Given the description of an element on the screen output the (x, y) to click on. 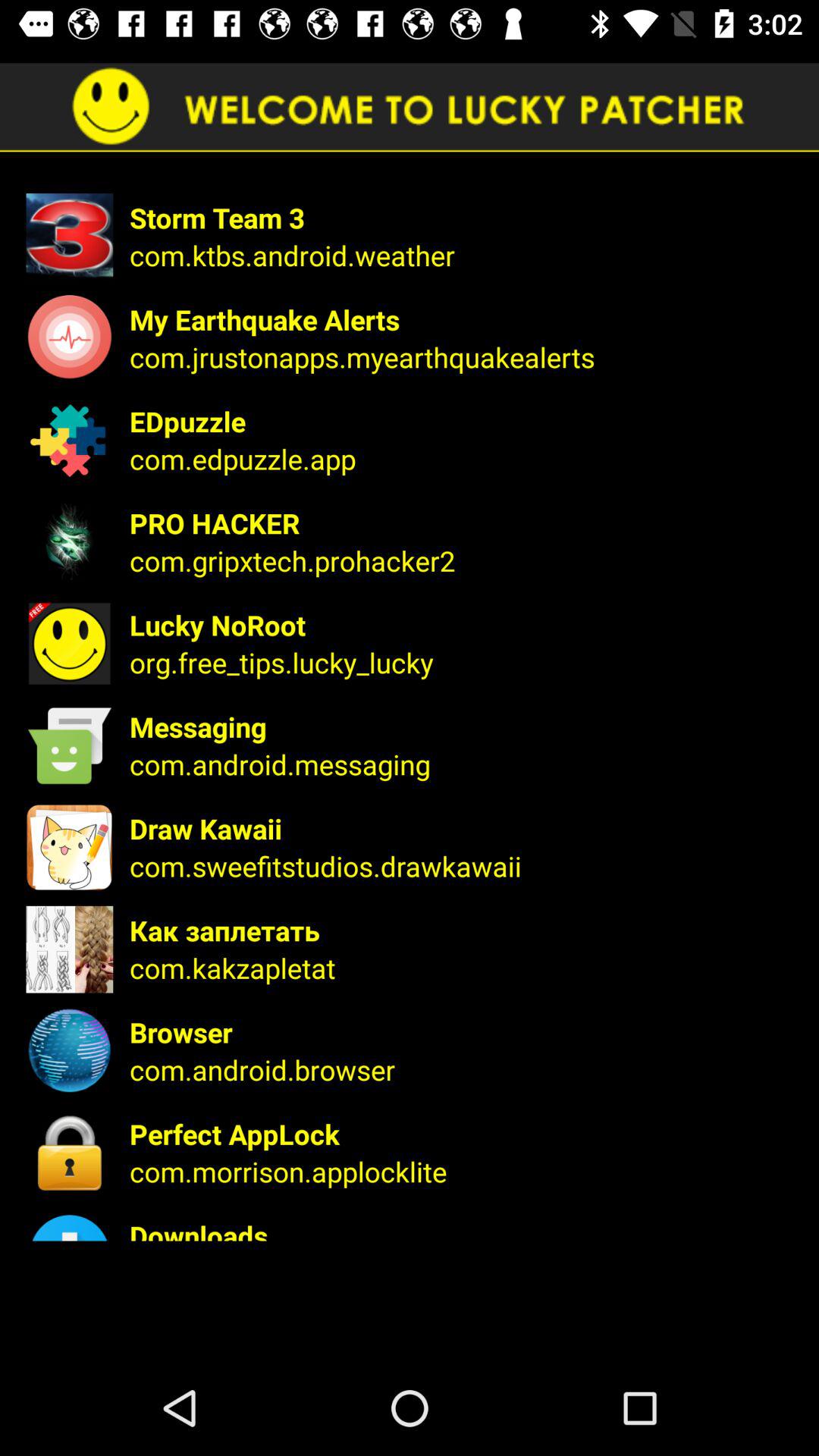
choose the app below lucky noroot icon (464, 662)
